Given the description of an element on the screen output the (x, y) to click on. 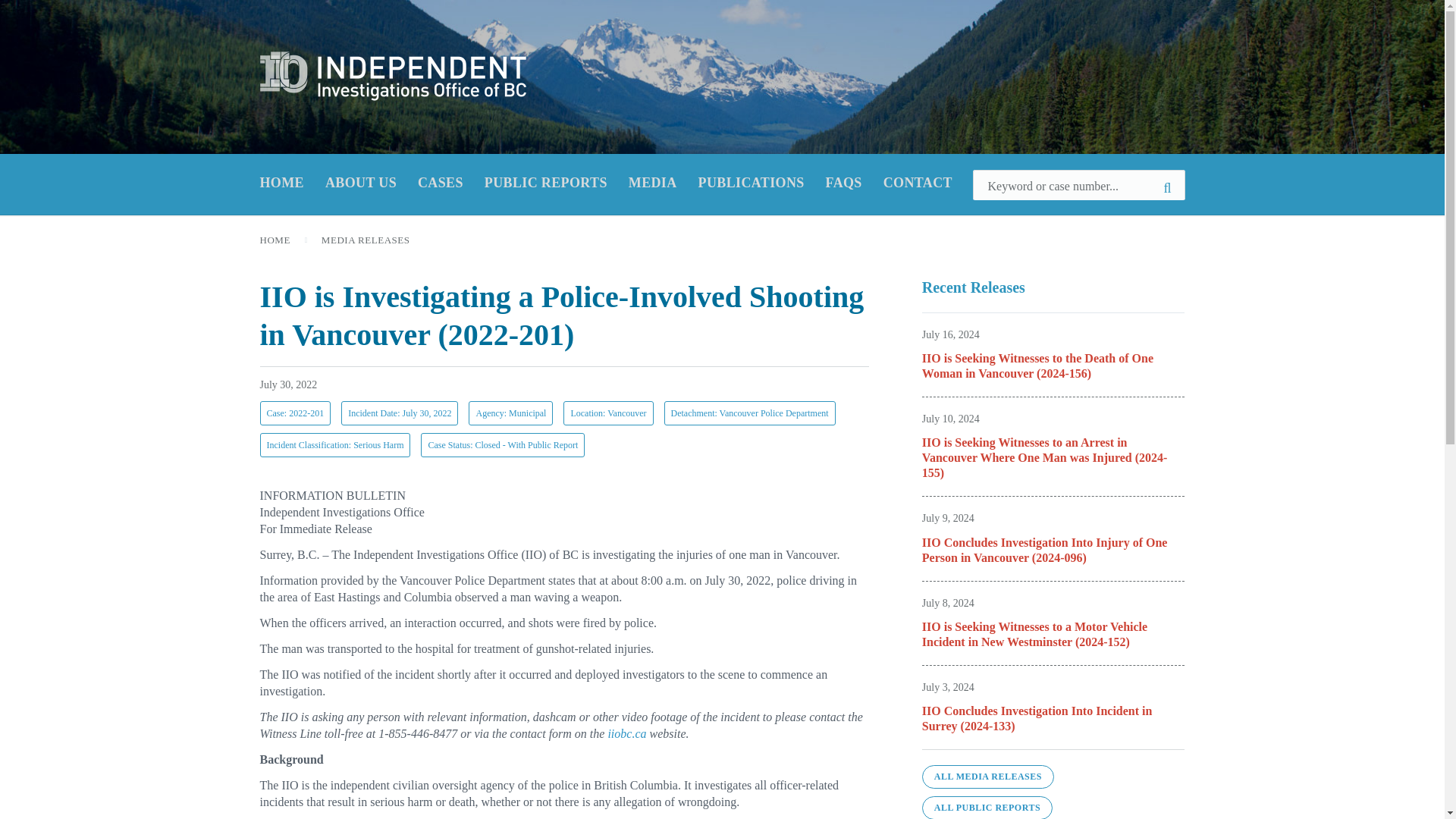
MEDIA (652, 183)
Incident Date: July 30, 2022 (399, 413)
Agency: Municipal (510, 413)
Location: Vancouver (607, 413)
Case Status: Closed - With Public Report (502, 445)
Incident Classification: Serious Harm (334, 445)
Detachment: Vancouver Police Department (749, 413)
CASES (440, 183)
HOME (280, 183)
ABOUT US (360, 182)
HOME (274, 240)
CONTACT (917, 183)
PUBLIC REPORTS (545, 183)
PUBLICATIONS (751, 183)
Keyword or case number... (1078, 184)
